Given the description of an element on the screen output the (x, y) to click on. 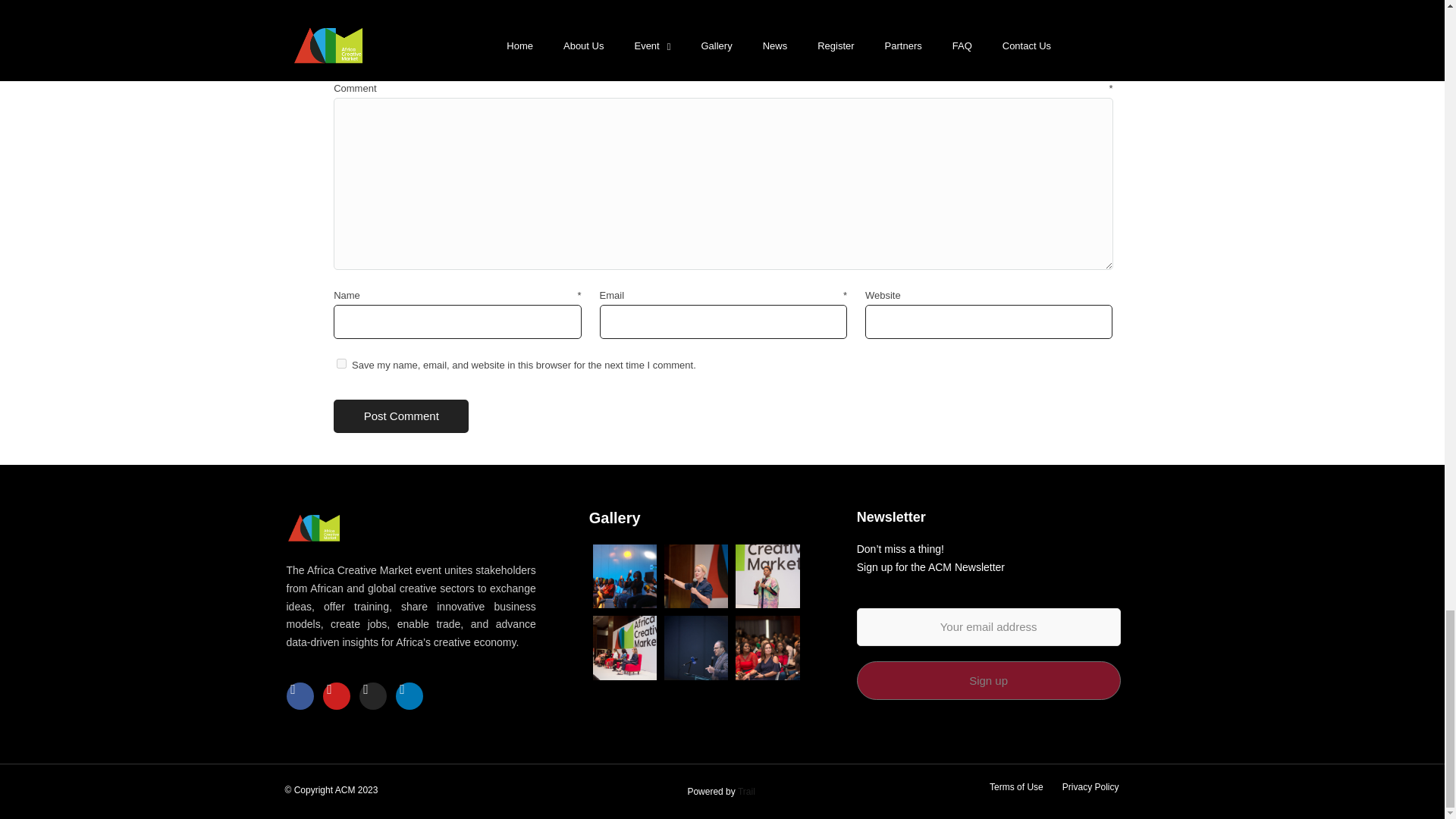
Post Comment (400, 416)
yes (341, 363)
